Given the description of an element on the screen output the (x, y) to click on. 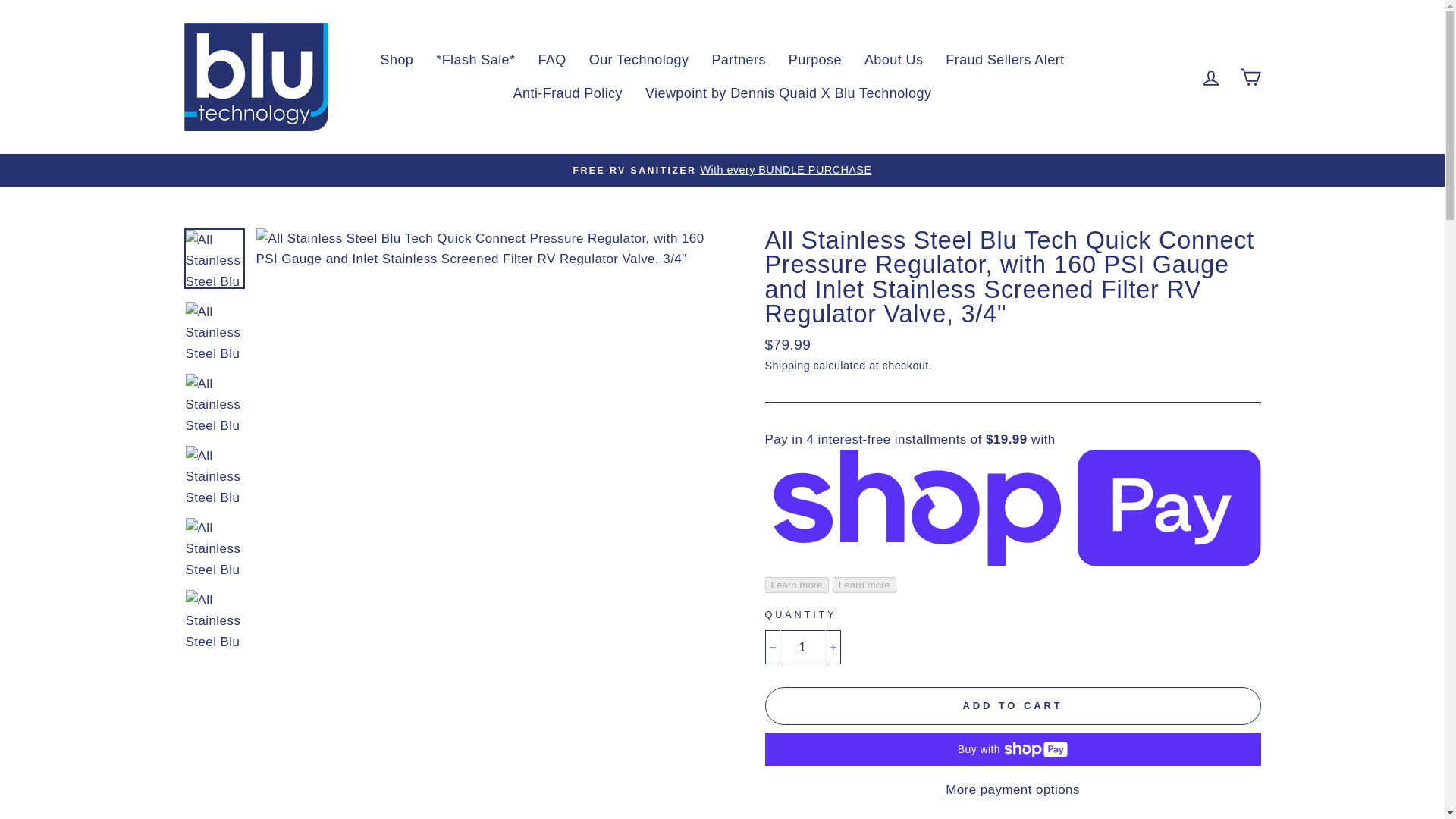
1 (802, 646)
